Given the description of an element on the screen output the (x, y) to click on. 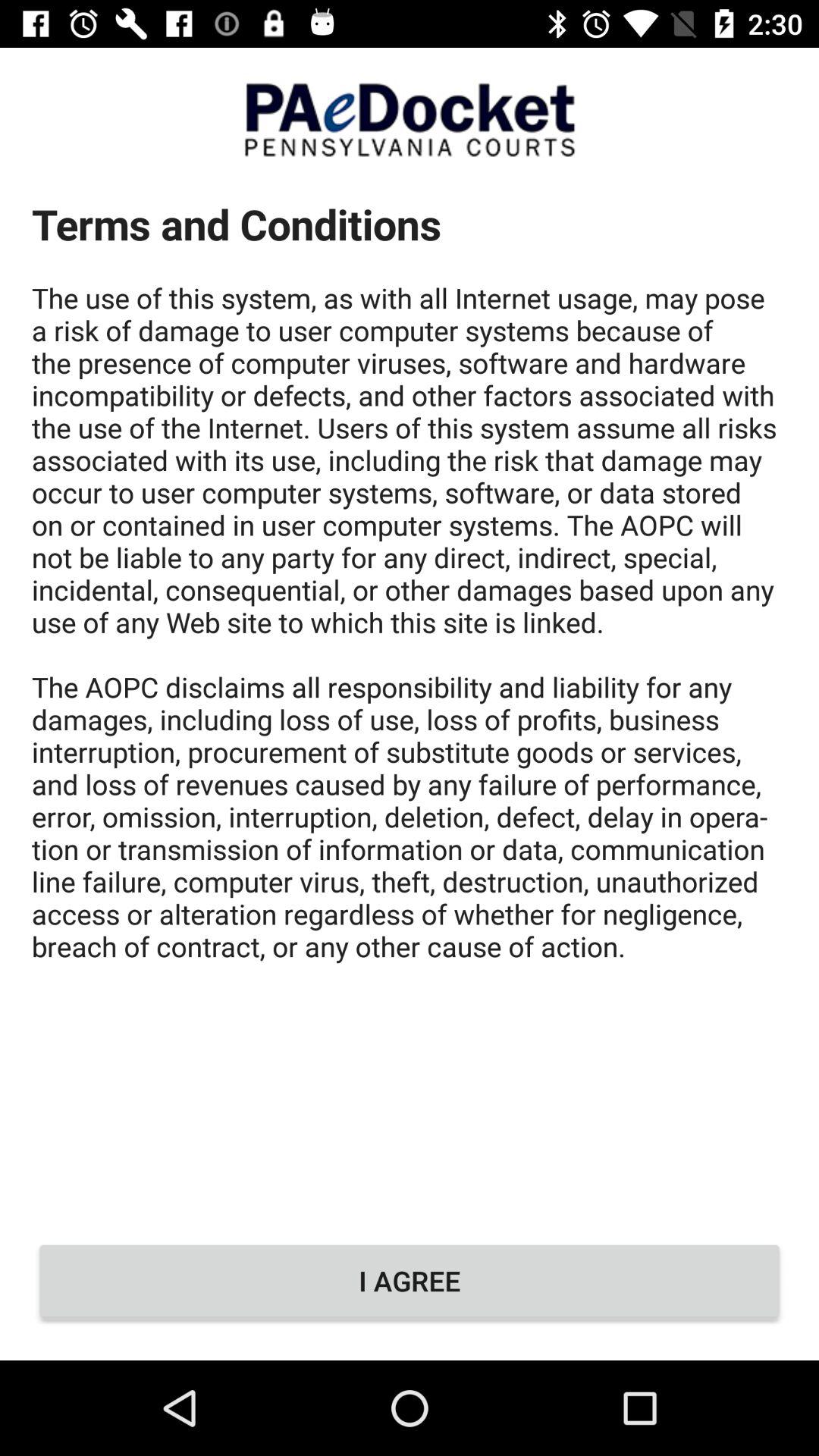
open the i agree (409, 1280)
